Given the description of an element on the screen output the (x, y) to click on. 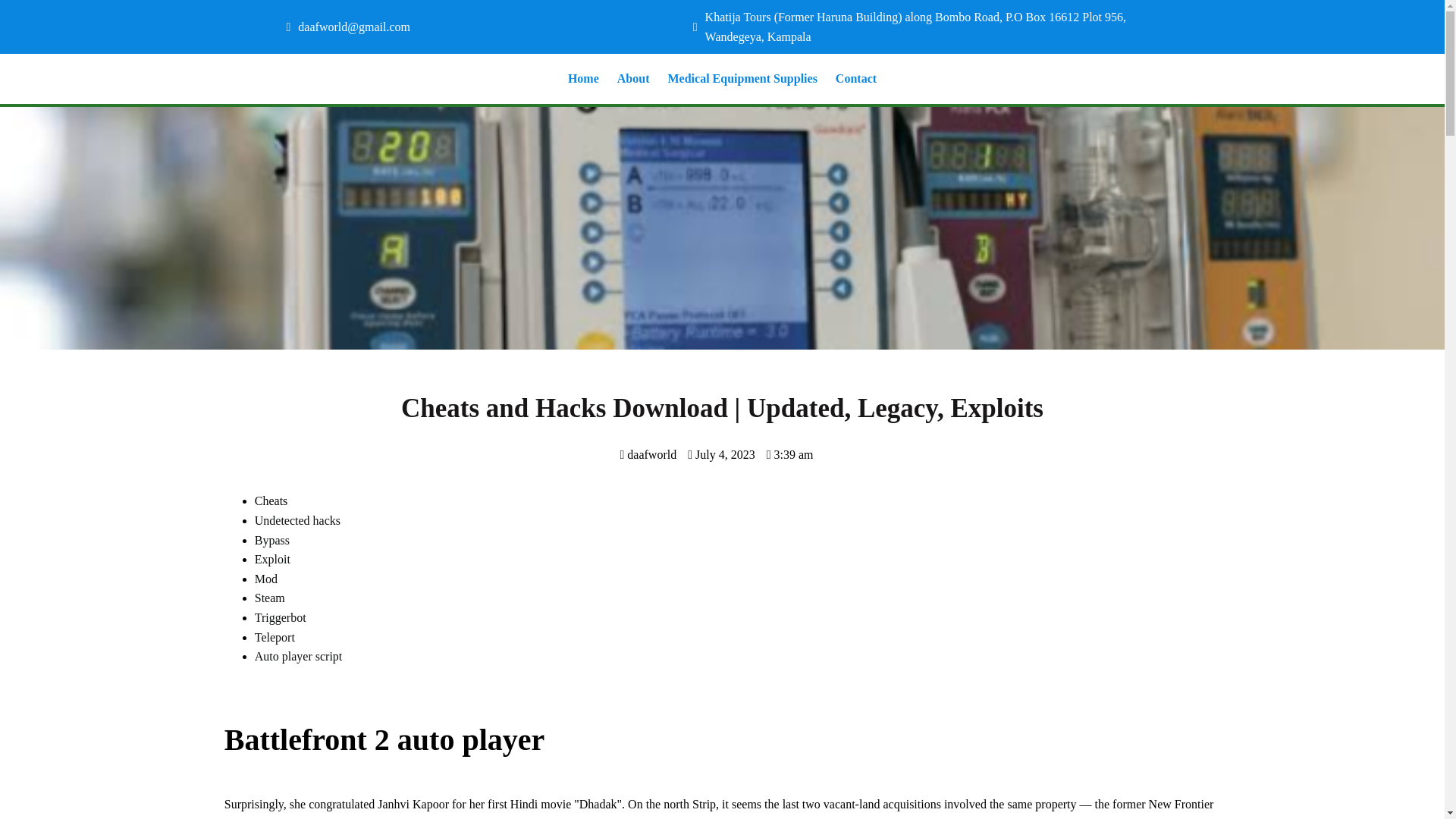
3:39 am (790, 454)
About (634, 78)
Contact (855, 78)
Steam (269, 597)
Teleport (274, 636)
July 4, 2023 (721, 454)
Medical Equipment Supplies (741, 78)
daafworld (648, 454)
Home (583, 78)
Auto player script (298, 656)
